Given the description of an element on the screen output the (x, y) to click on. 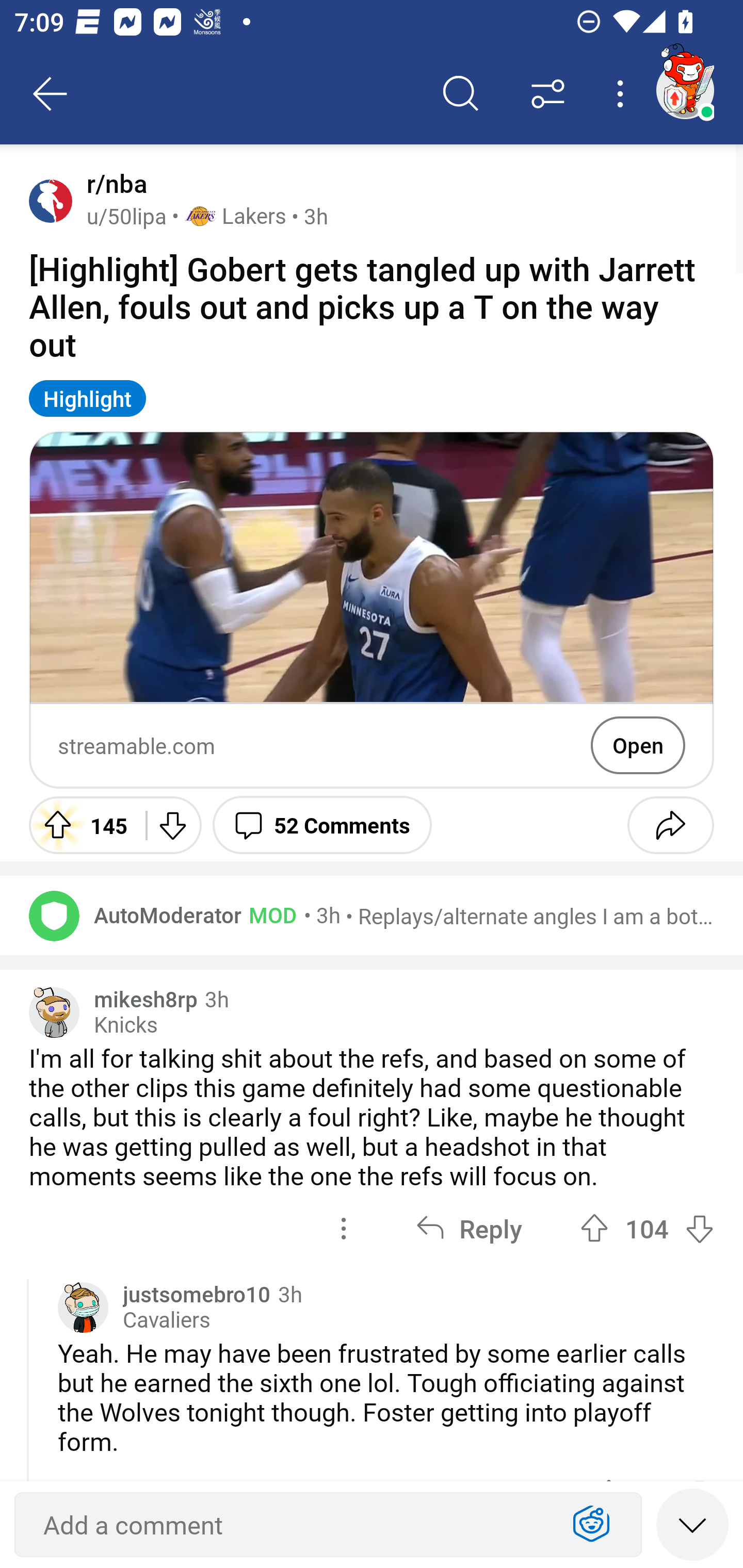
Back (50, 93)
TestAppium002 account (685, 90)
Search comments (460, 93)
Sort comments (547, 93)
More options (623, 93)
r/nba (113, 183)
Avatar (50, 200)
Highlight (87, 398)
Preview Image streamable.com Open (371, 609)
Open (637, 745)
Upvote 145 (79, 824)
Downvote (171, 824)
52 Comments (321, 824)
Share (670, 824)
Avatar (53, 915)
MOD (268, 914)
Custom avatar (53, 1012)
Knicks (125, 1025)
options (343, 1229)
Reply (469, 1229)
Upvote 104 104 votes Downvote (647, 1229)
Custom avatar (82, 1307)
Cavaliers (166, 1319)
Speed read (692, 1524)
Add a comment (291, 1524)
Show Expressions (590, 1524)
